Given the description of an element on the screen output the (x, y) to click on. 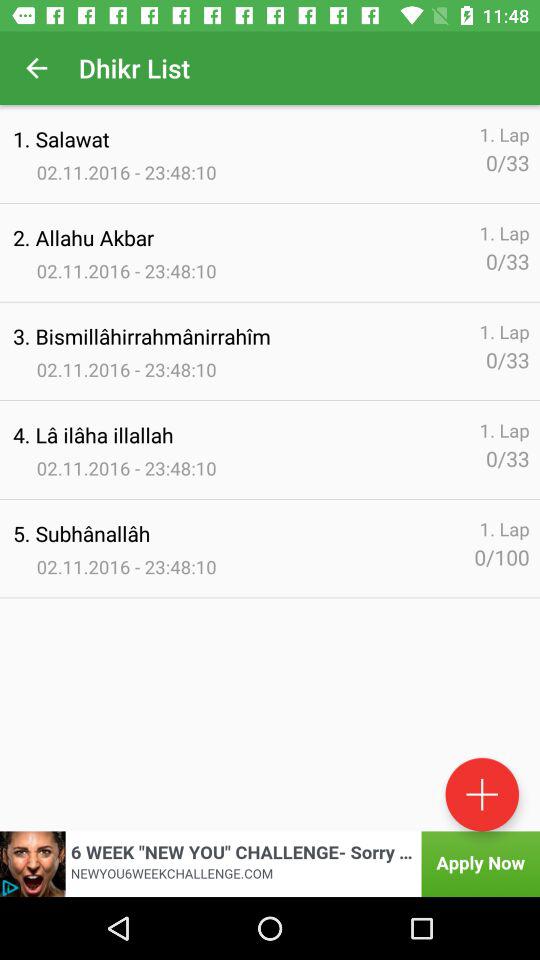
go to add (482, 794)
